Given the description of an element on the screen output the (x, y) to click on. 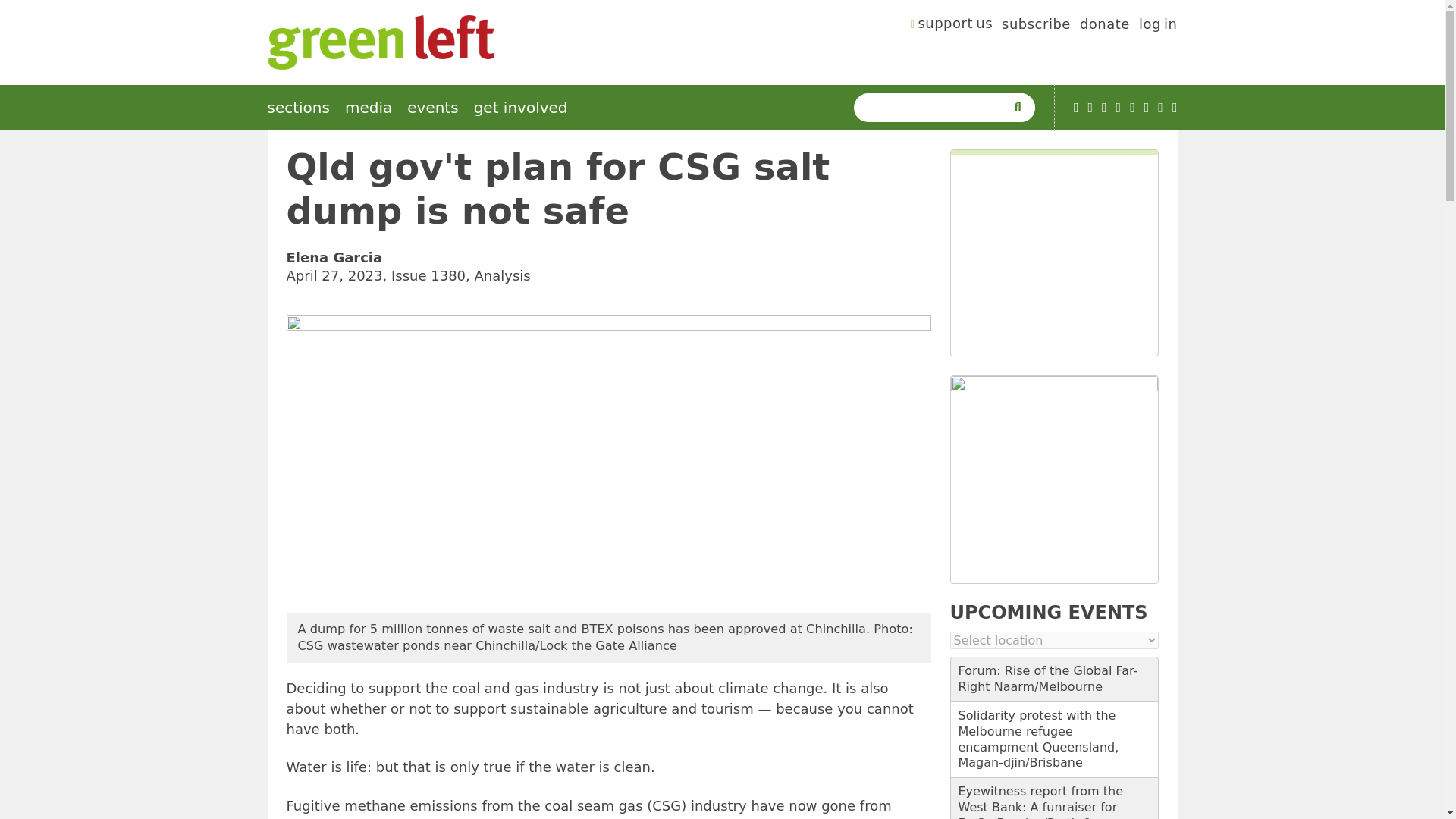
donate (1104, 26)
events (432, 107)
Facebook (1104, 107)
Podcast (1090, 107)
log in (1157, 26)
subscribe (1035, 26)
Enter the terms you wish to search for. (932, 107)
support us (951, 26)
YouTube (1076, 107)
TikTok (1118, 107)
